Given the description of an element on the screen output the (x, y) to click on. 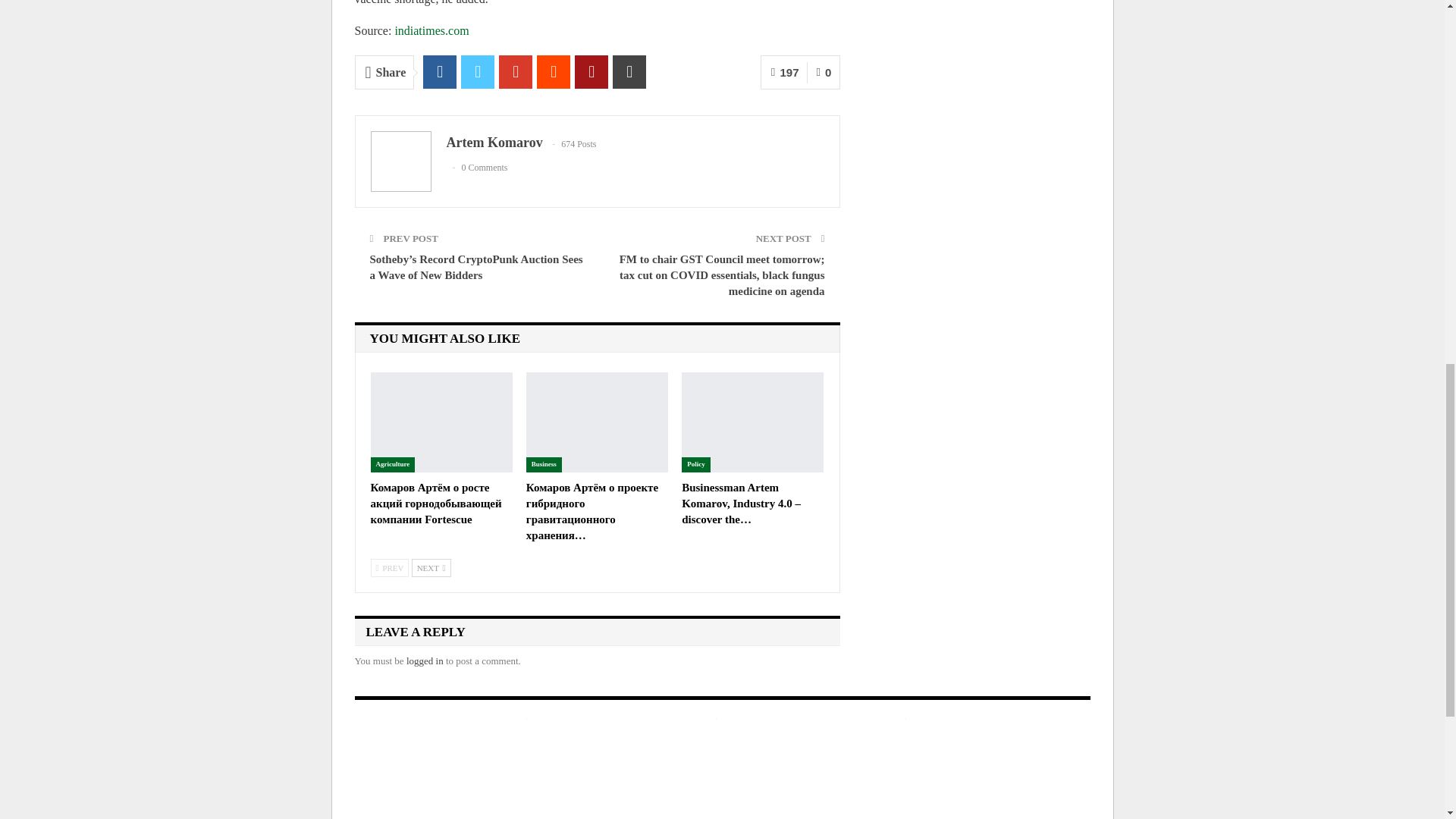
indiatimes.com (431, 30)
Next (431, 567)
Previous (389, 567)
